Given the description of an element on the screen output the (x, y) to click on. 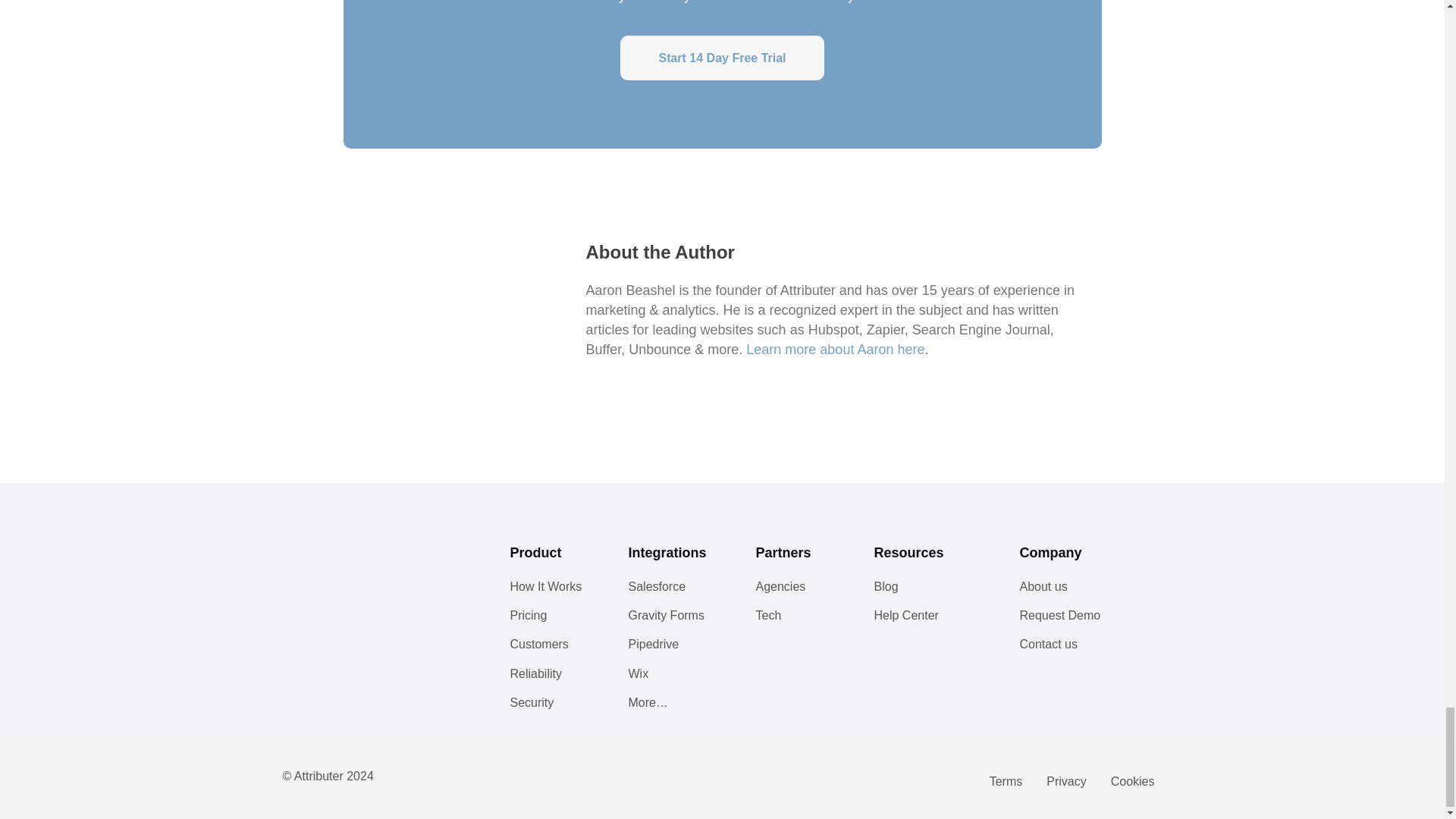
Customers (552, 649)
Learn more about Aaron here (834, 349)
Start 14 Day Free Trial (722, 58)
Gravity Forms (676, 620)
aaron-beashel (456, 315)
Black Logo (339, 557)
Blog (930, 592)
Tech (799, 620)
Security (552, 707)
Agencies (799, 592)
About us (1076, 592)
How It Works (552, 592)
Pricing (552, 620)
Reliability (552, 678)
Pipedrive (676, 649)
